Given the description of an element on the screen output the (x, y) to click on. 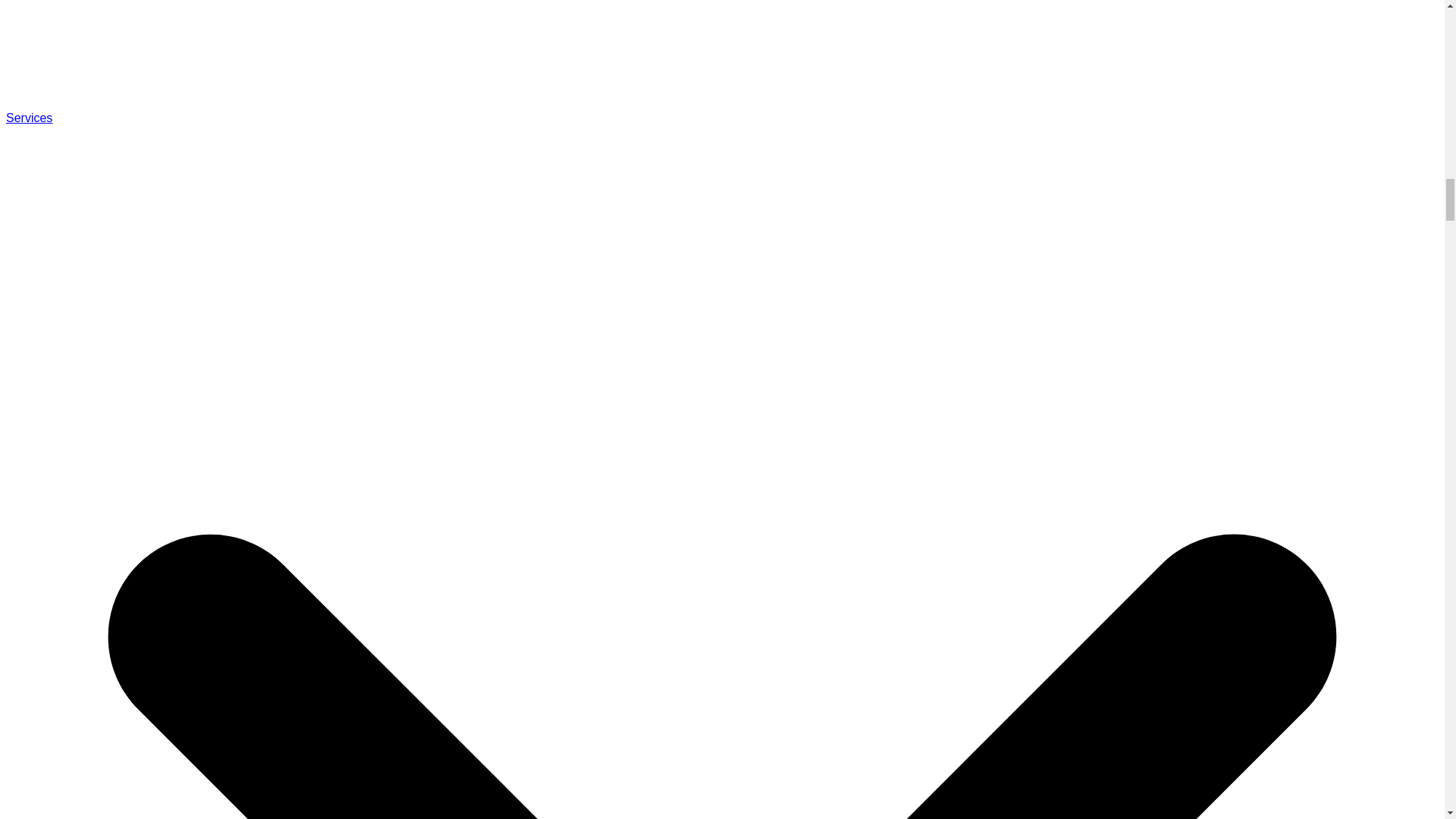
Services (28, 117)
